Given the description of an element on the screen output the (x, y) to click on. 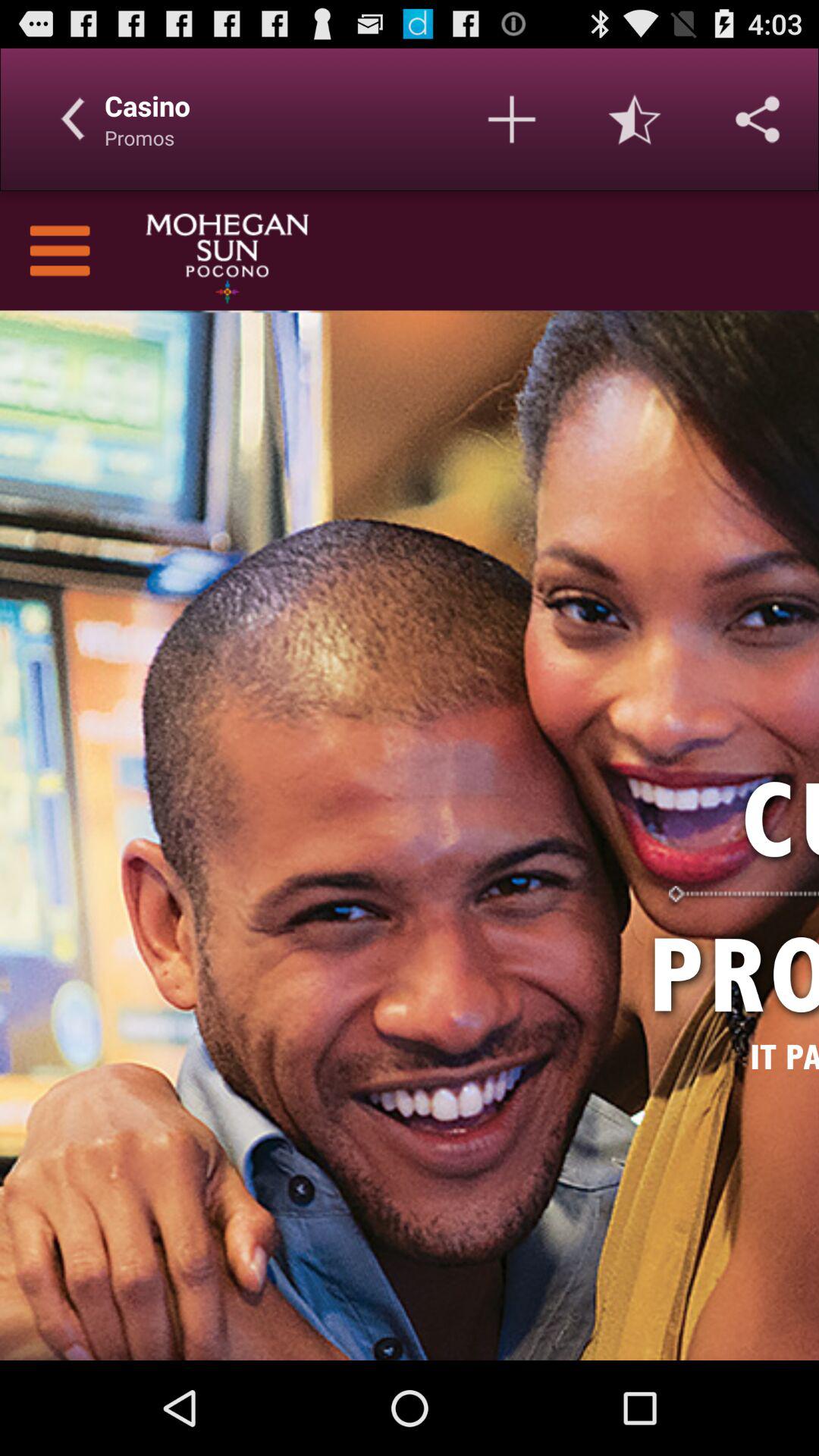
share with others (757, 119)
